Given the description of an element on the screen output the (x, y) to click on. 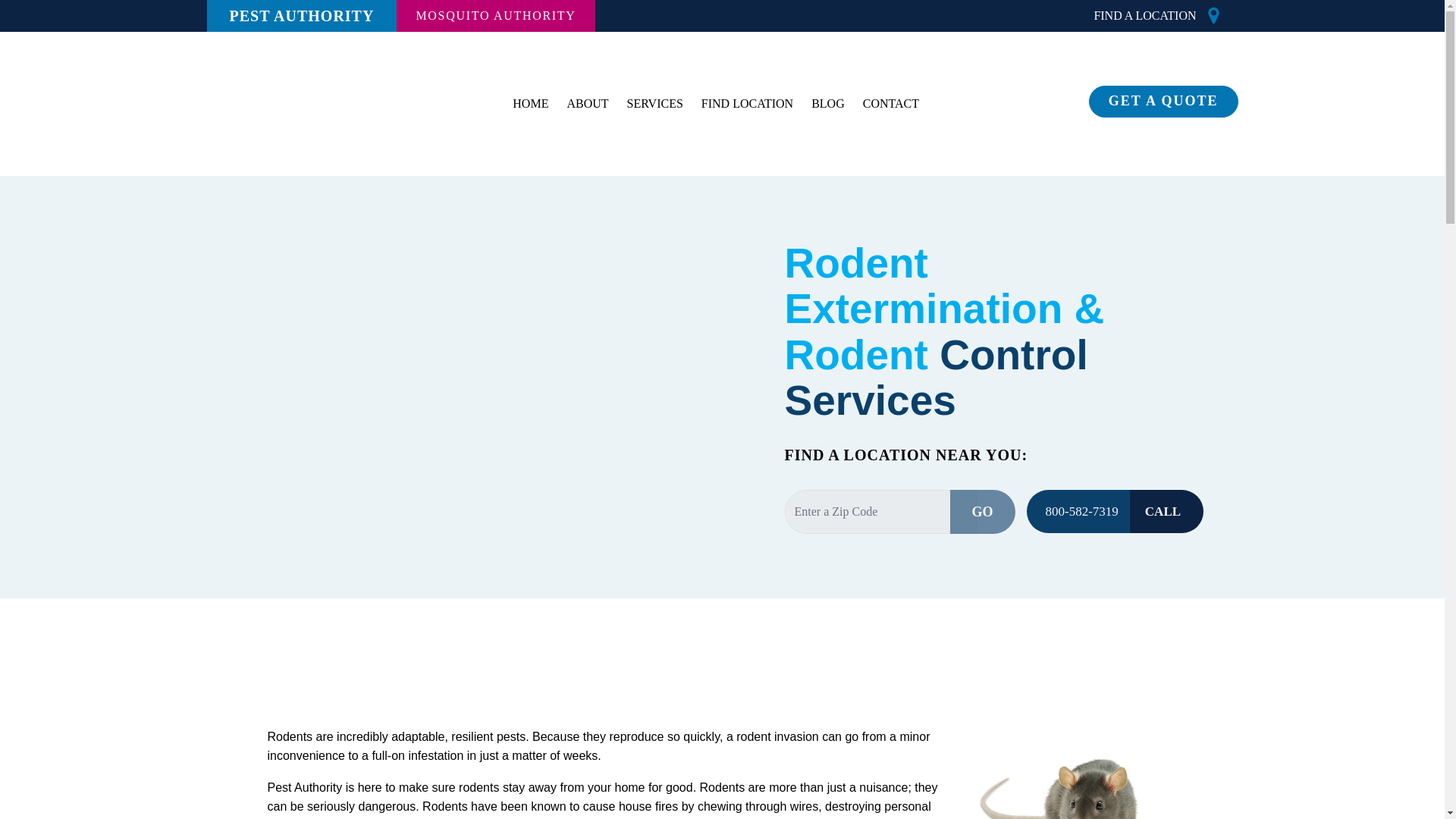
HOME (530, 103)
PEST AUTHORITY (301, 15)
FIND LOCATION (747, 103)
CONTACT (890, 103)
SERVICES (655, 103)
MOSQUITO AUTHORITY (495, 15)
BLOG (827, 103)
FIND A LOCATION (1144, 15)
ABOUT (587, 103)
